Given the description of an element on the screen output the (x, y) to click on. 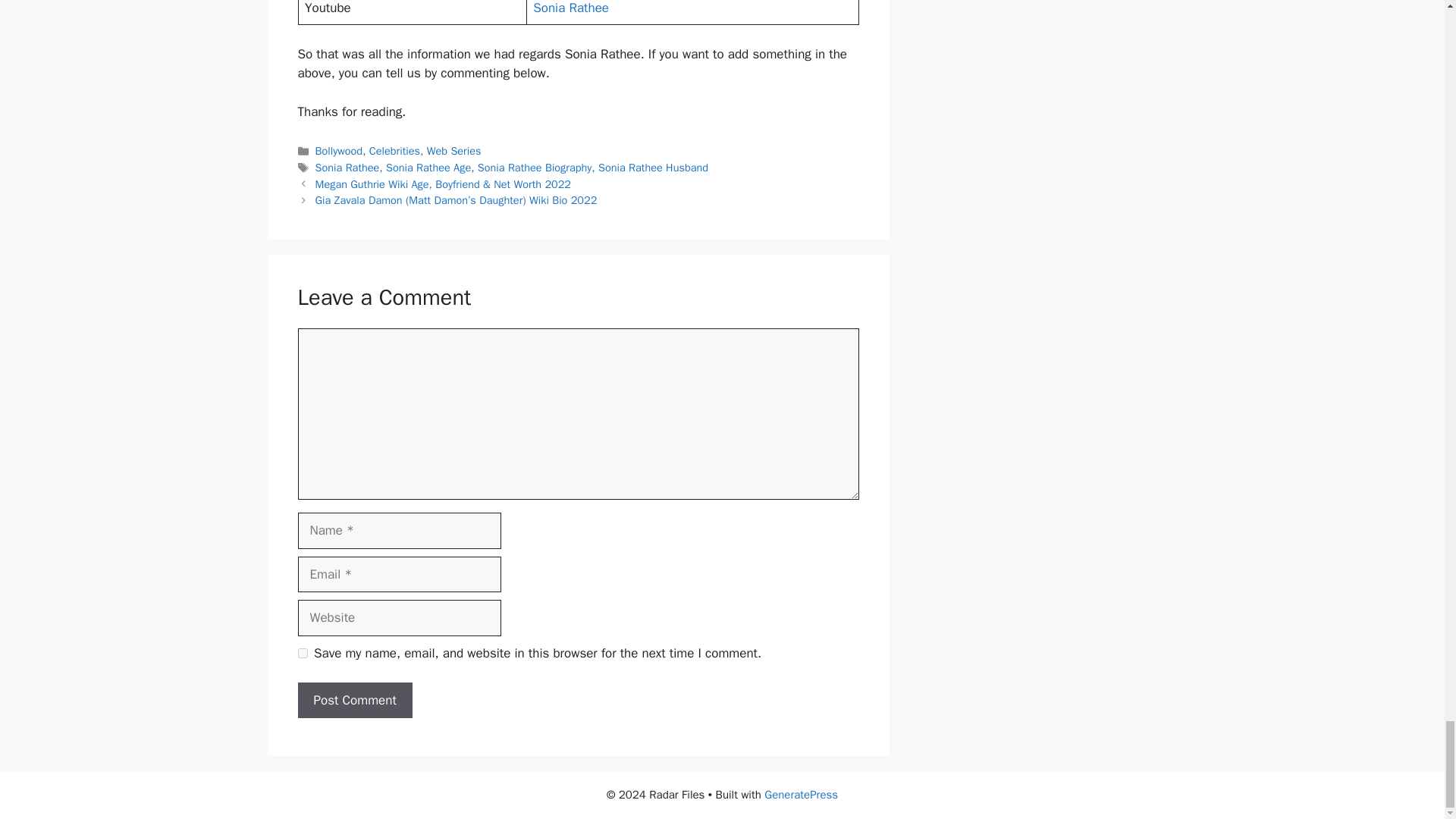
Celebrities (394, 151)
Sonia Rathee Husband (652, 167)
Sonia Rathee (570, 7)
GeneratePress (801, 794)
Sonia Rathee (347, 167)
Bollywood (338, 151)
Post Comment (354, 700)
Sonia Rathee Age (427, 167)
yes (302, 653)
Post Comment (354, 700)
Web Series (453, 151)
Sonia Rathee Biography (534, 167)
